Given the description of an element on the screen output the (x, y) to click on. 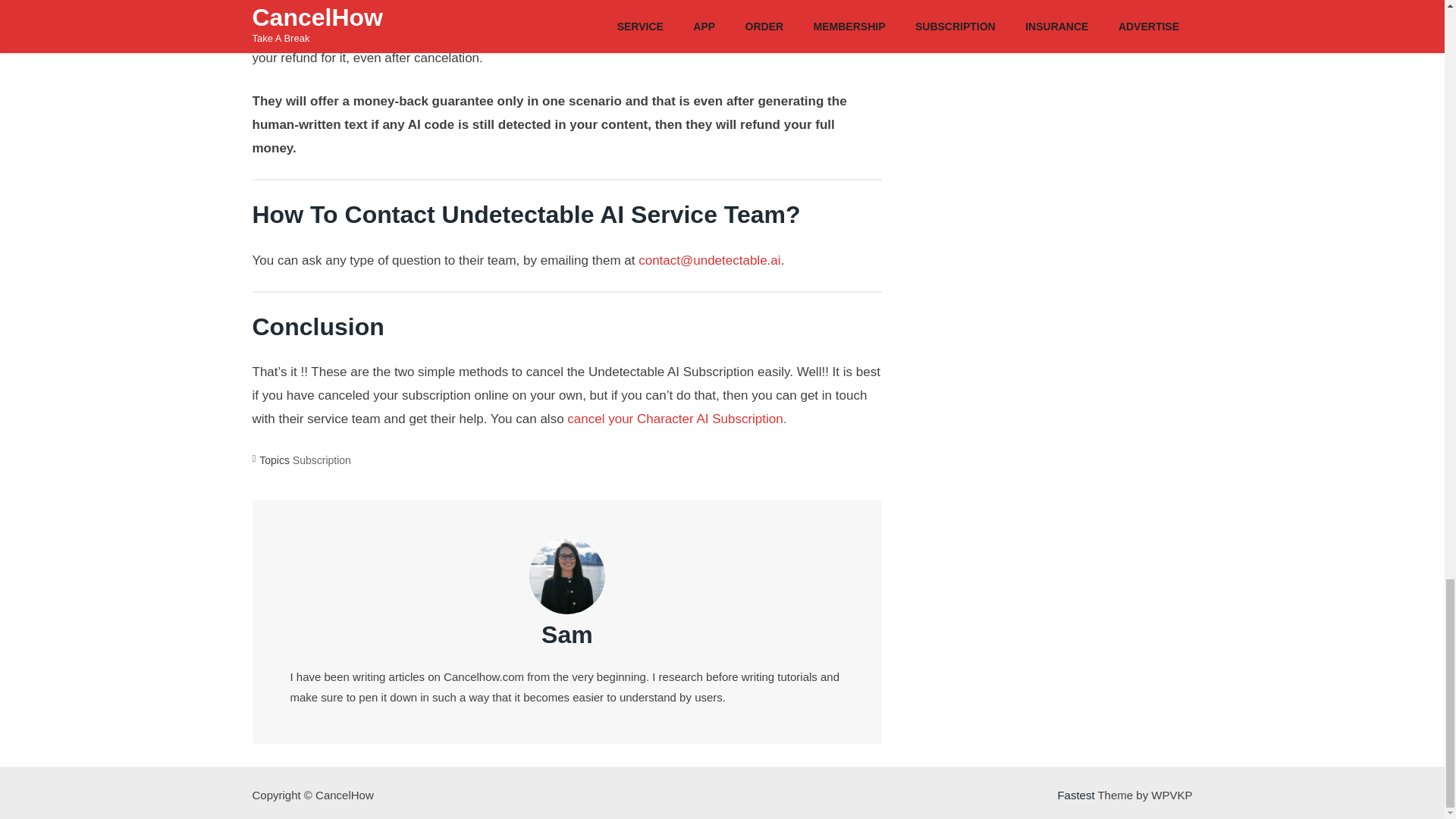
Subscription (321, 460)
cancel your Character AI Subscription. (676, 418)
Posts by Sam (566, 634)
Sam (566, 634)
Fastest (1075, 794)
